Given the description of an element on the screen output the (x, y) to click on. 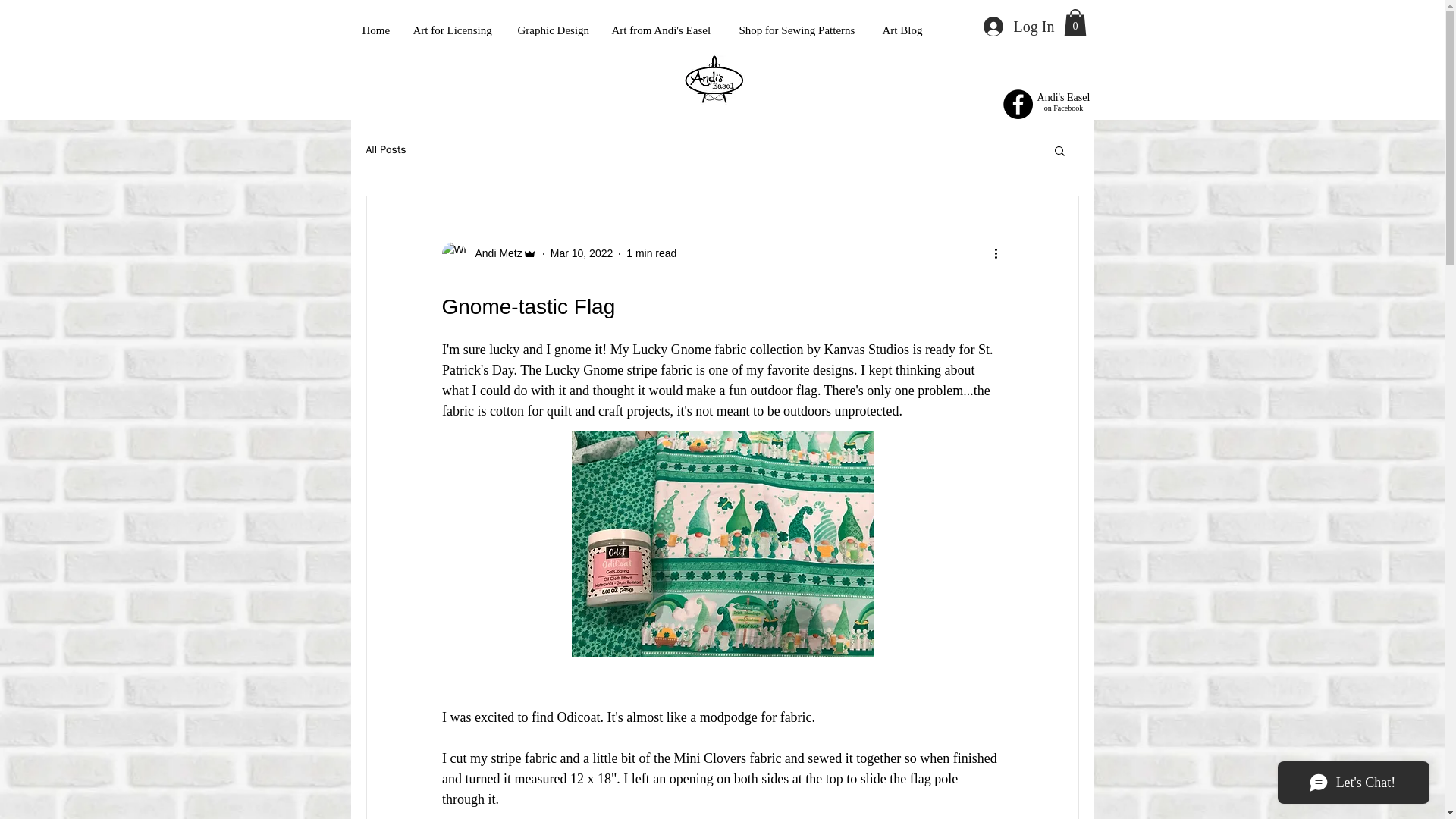
Shop for Sewing Patterns (799, 29)
 Andi Metz (493, 253)
1 min read (651, 253)
Graphic Design (552, 29)
All Posts (385, 150)
Mar 10, 2022 (581, 253)
Andi Metz (488, 253)
Art for Licensing (453, 29)
Log In (1017, 26)
Art Blog (902, 29)
Art from Andi's Easel (663, 29)
Home (375, 29)
